Given the description of an element on the screen output the (x, y) to click on. 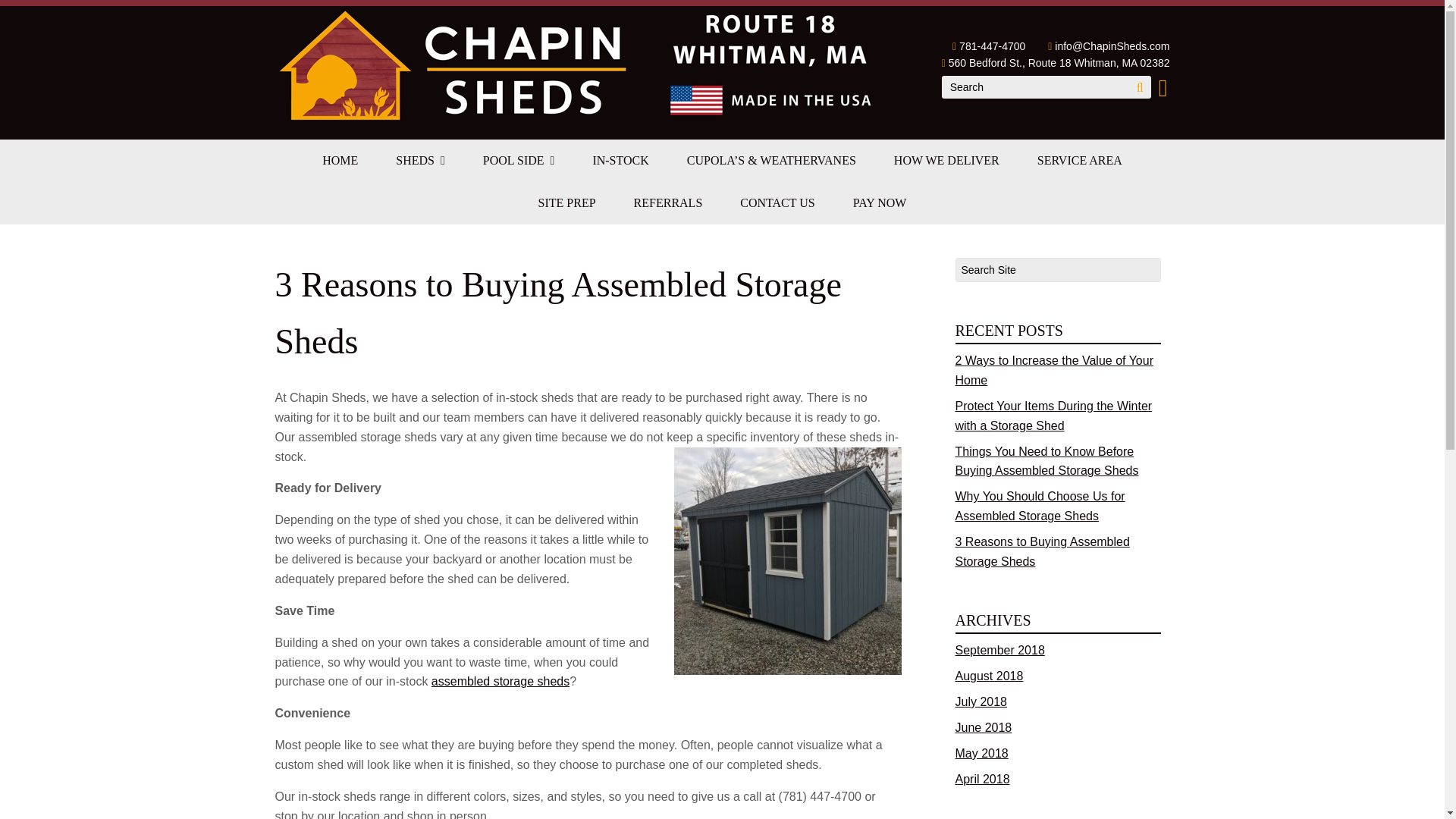
assembled storage sheds (499, 680)
HOW WE DELIVER (946, 160)
POLY FURNITURE (519, 199)
POOL SIDE (518, 160)
SITE PREP (566, 202)
CONTACT US (776, 202)
HOME (339, 160)
REFERRALS (668, 202)
781-447-4700 (992, 46)
PAY NOW (880, 202)
IN-STOCK (619, 160)
2 Ways to Increase the Value of Your Home (1054, 369)
Why You Should Choose Us for Assembled Storage Sheds (1040, 505)
CLASSIC CAPE (420, 199)
